Given the description of an element on the screen output the (x, y) to click on. 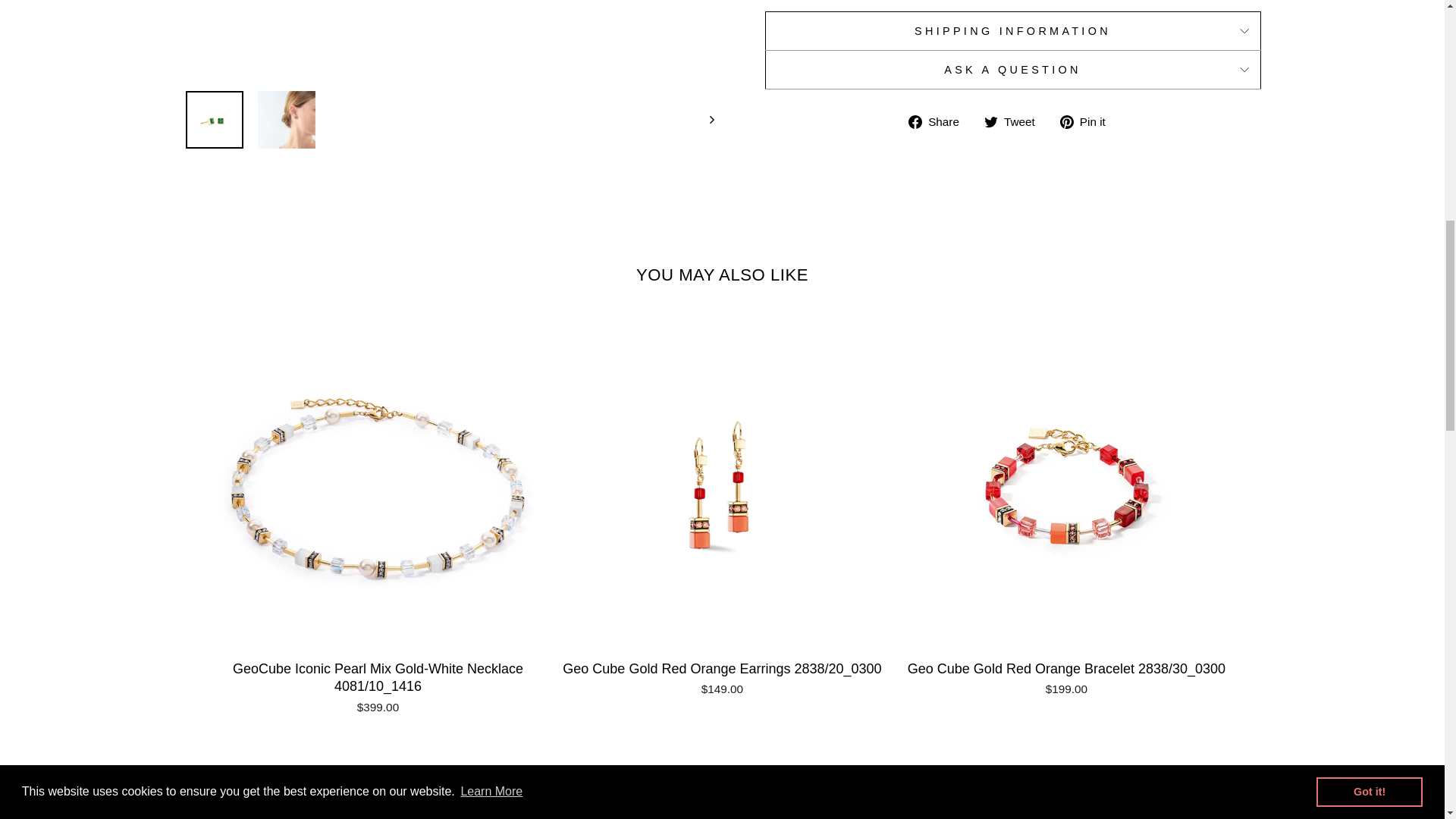
Tweet on Twitter (1015, 121)
Pin on Pinterest (1087, 121)
Share on Facebook (939, 121)
